Given the description of an element on the screen output the (x, y) to click on. 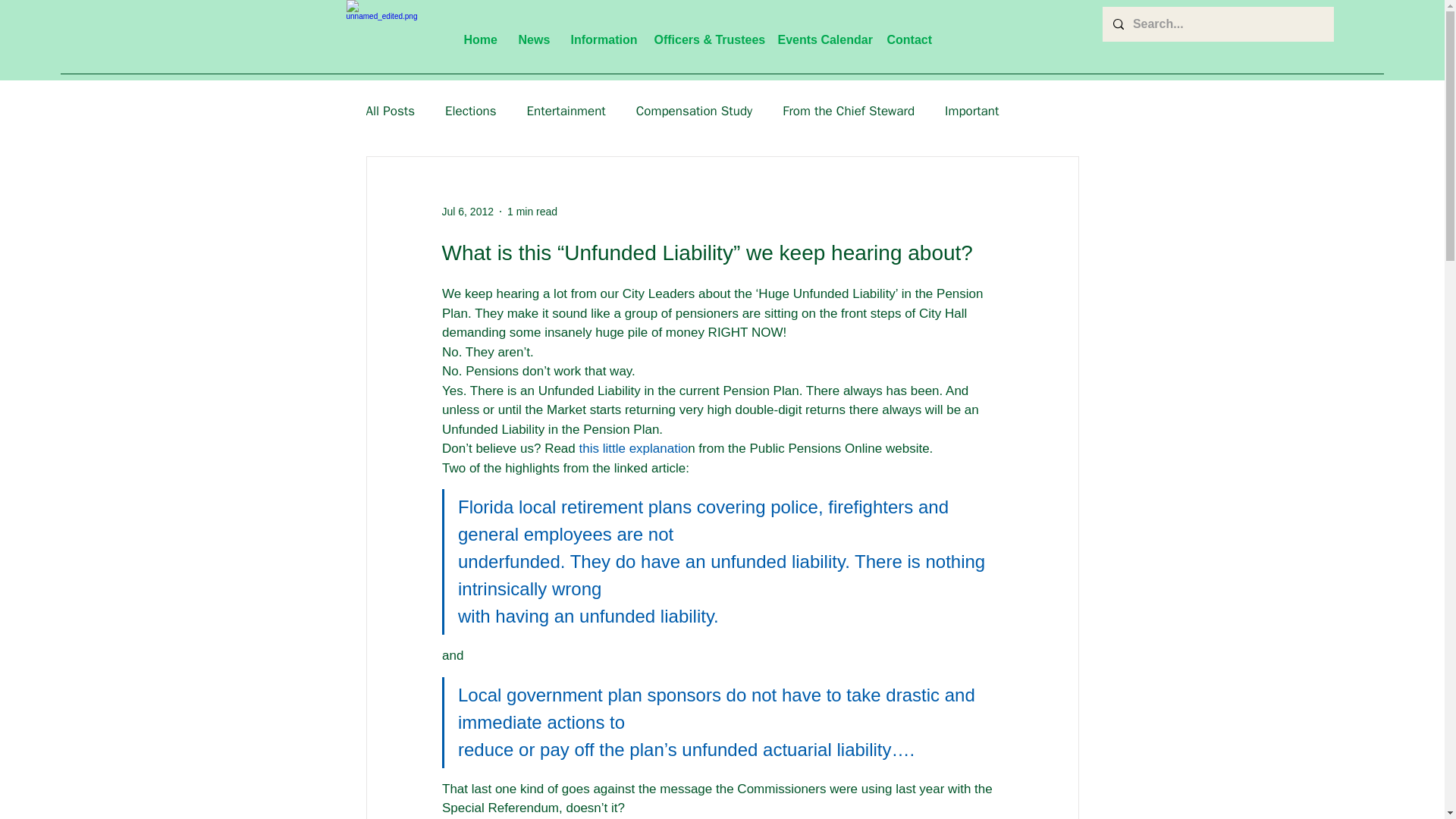
1 min read (531, 210)
Contact (907, 39)
All Posts (389, 109)
Important (971, 109)
Home (478, 39)
From the Chief Steward (848, 109)
Jul 6, 2012 (467, 210)
Events Calendar (820, 39)
Elections (470, 109)
News (532, 39)
